Given the description of an element on the screen output the (x, y) to click on. 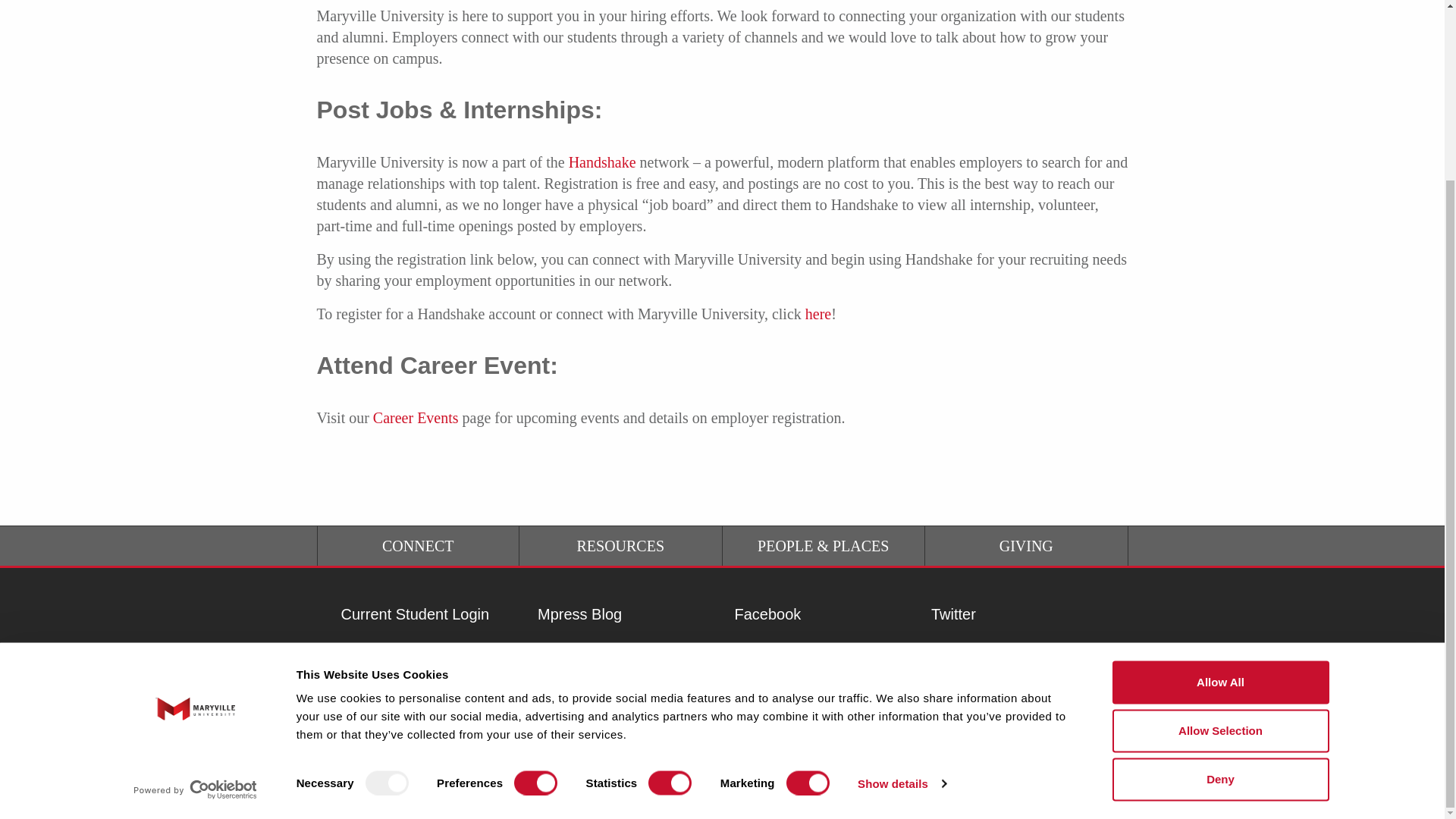
Show details (900, 562)
